Given the description of an element on the screen output the (x, y) to click on. 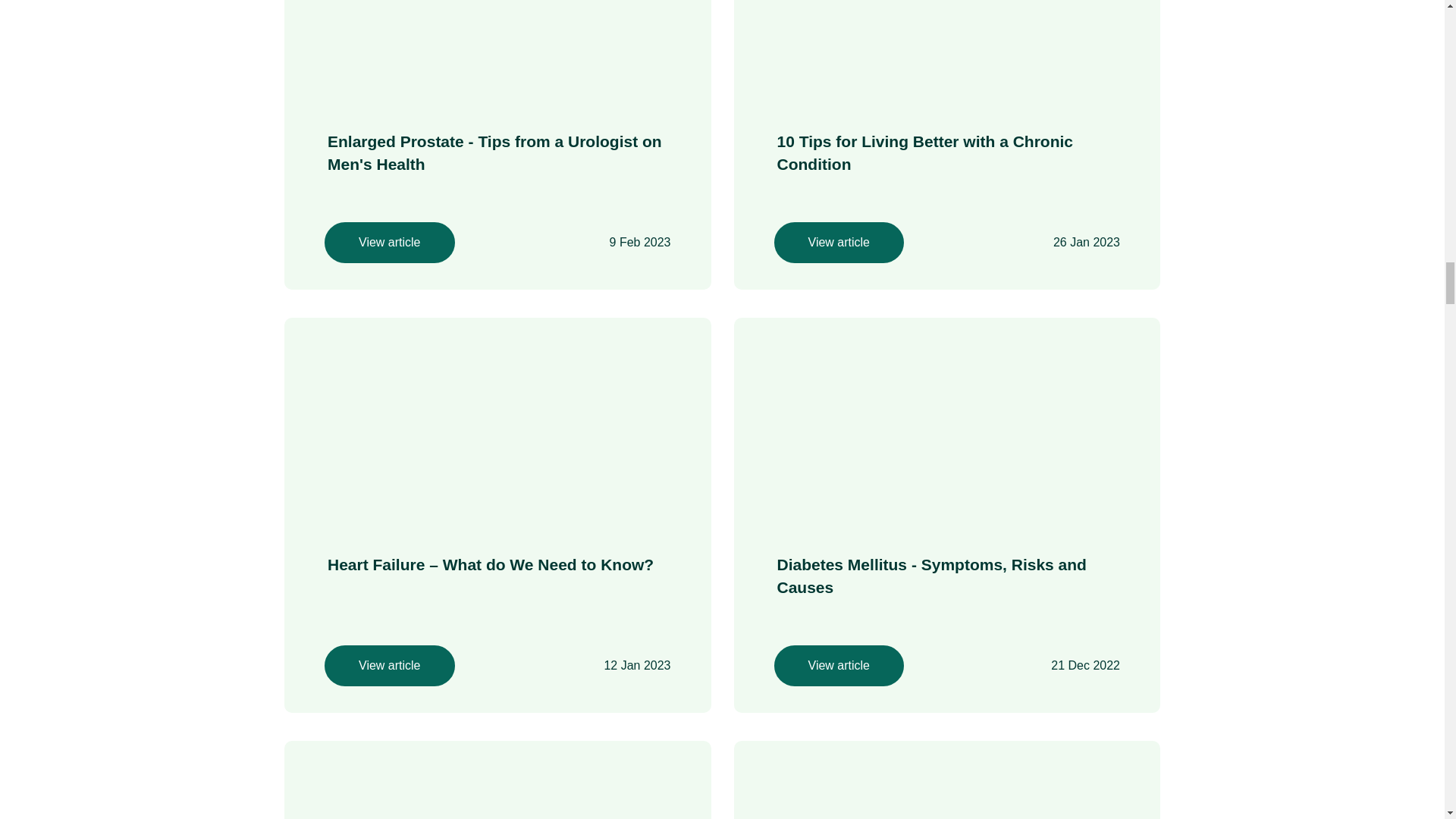
View article (389, 665)
View article (838, 665)
View article (838, 241)
View article (389, 241)
